Given the description of an element on the screen output the (x, y) to click on. 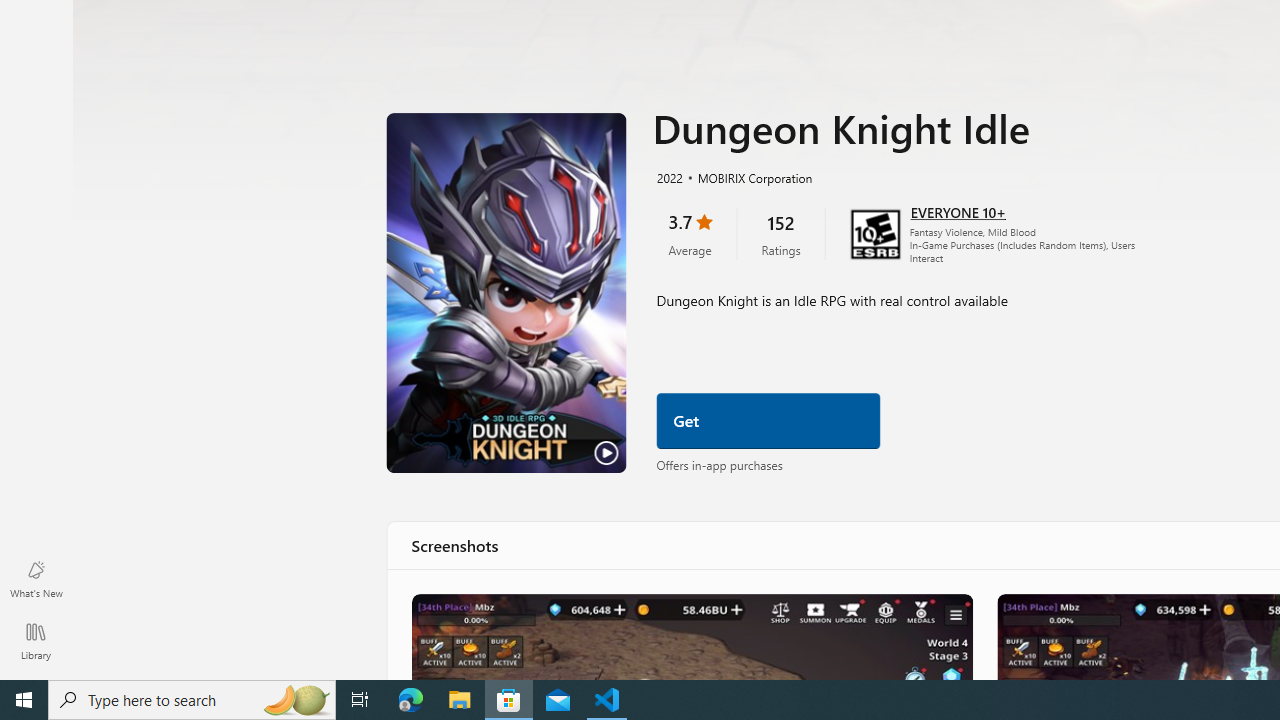
Dungeon Knight Idle (690, 636)
Play Trailer (505, 293)
2022 (667, 177)
3.7 stars. Click to skip to ratings and reviews (689, 232)
Age rating: EVERYONE 10+. Click for more information. (956, 211)
Get (767, 421)
MOBIRIX Corporation (746, 177)
